Given the description of an element on the screen output the (x, y) to click on. 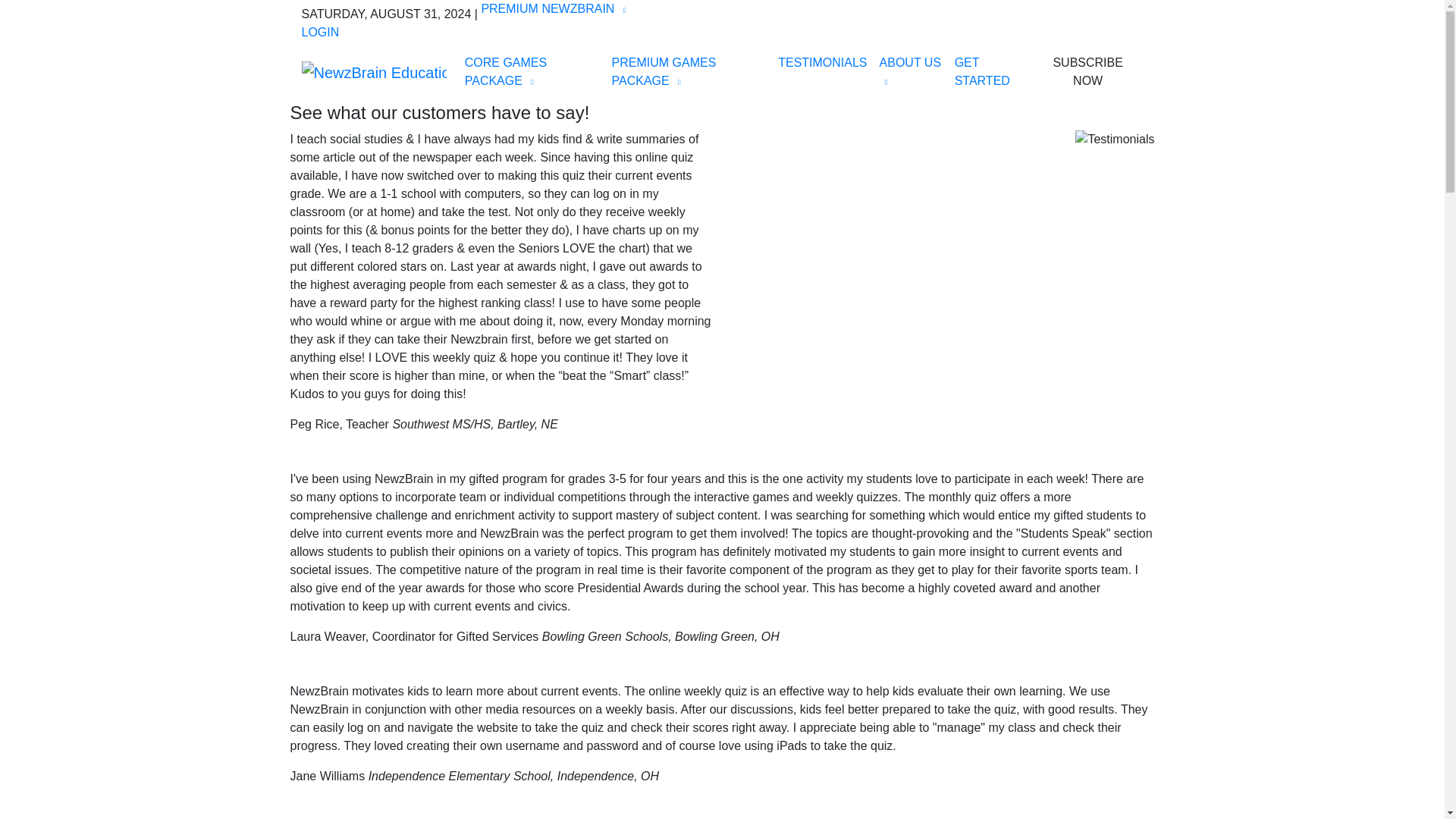
ABOUT US (911, 71)
PREMIUM NEWZBRAIN (553, 8)
TESTIMONIALS (821, 62)
CORE GAMES PACKAGE (531, 71)
SUBSCRIBE NOW (1087, 71)
GET STARTED (990, 71)
LOGIN (320, 31)
PREMIUM GAMES PACKAGE (689, 71)
